Given the description of an element on the screen output the (x, y) to click on. 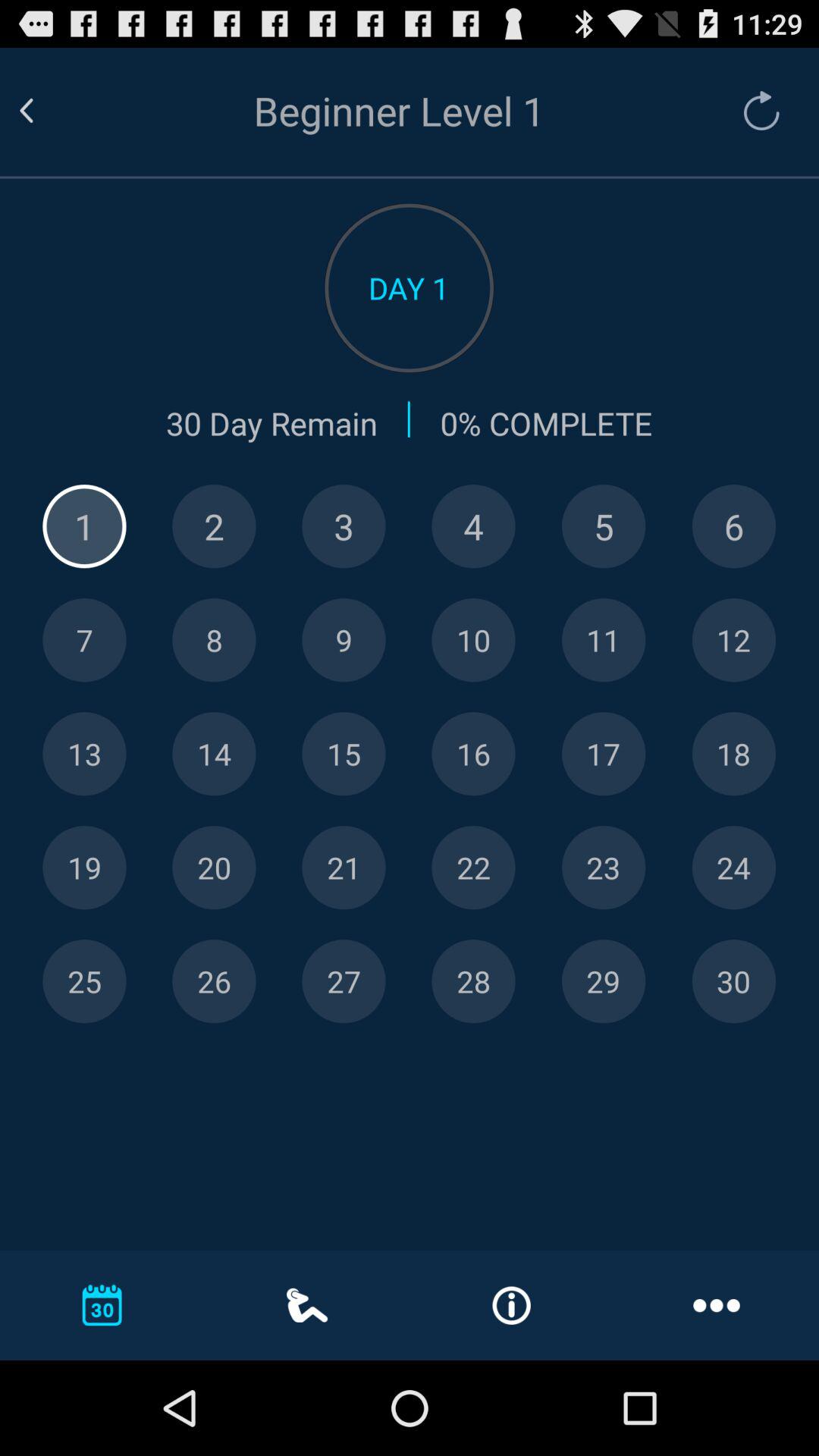
select specific day (213, 867)
